Given the description of an element on the screen output the (x, y) to click on. 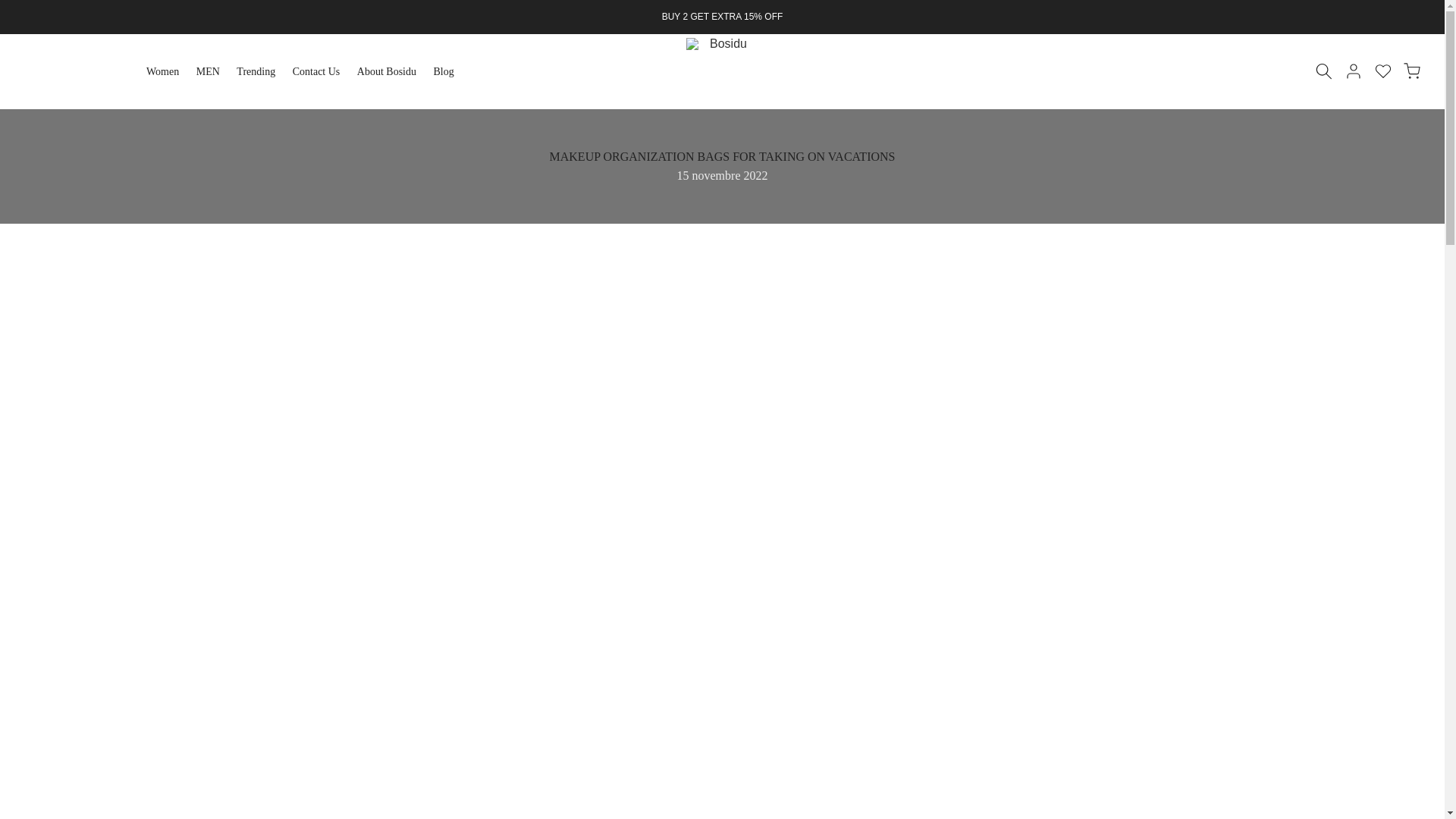
Skip to content (10, 7)
About Bosidu (391, 72)
Contact Us (320, 72)
Blog (448, 72)
MEN (212, 72)
Women (167, 72)
Trending (260, 72)
